Given the description of an element on the screen output the (x, y) to click on. 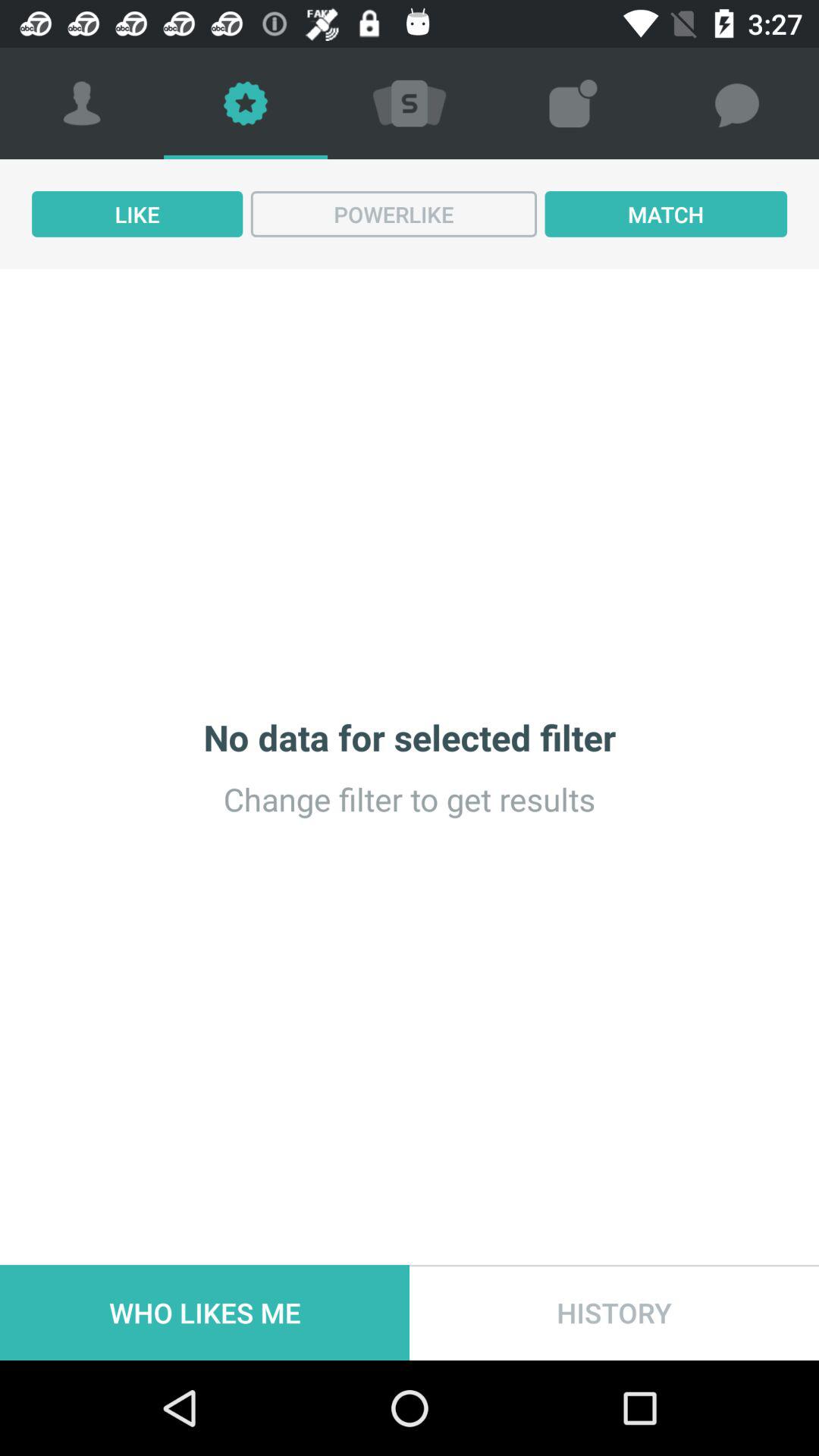
turn off the item below change filter to item (204, 1312)
